Given the description of an element on the screen output the (x, y) to click on. 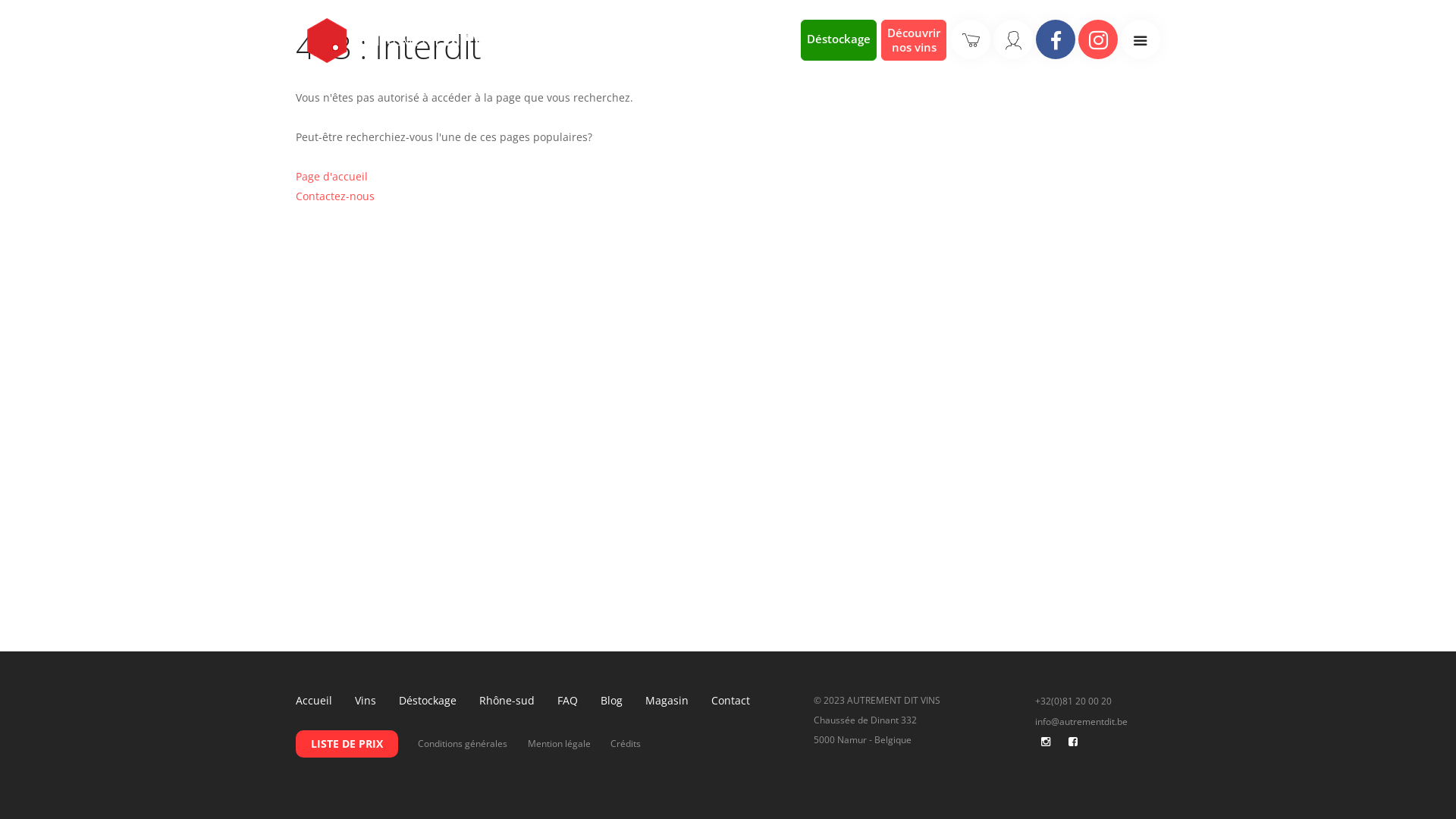
FAQ Element type: text (567, 700)
fb:like Facebook Social Plugin Element type: hover (1094, 762)
LISTE DE PRIX Element type: text (346, 743)
Authentifiez-vous Element type: hover (1012, 39)
Contactez-nous Element type: text (334, 195)
info@autrementdit.be Element type: text (1081, 721)
Menu Element type: hover (1140, 39)
Notre actu sur Facebook Element type: hover (1055, 39)
Vins Element type: text (365, 700)
AUTREMENT DIT VINS Element type: hover (407, 40)
Accueil Element type: text (313, 700)
Magasin Element type: text (666, 700)
Blog Element type: text (611, 700)
Contact Element type: text (730, 700)
+32(0)81 20 00 20 Element type: text (1073, 700)
  Element type: text (1036, 741)
  Element type: text (1071, 741)
Notre actu sur Instagram Element type: hover (1097, 39)
Page d'accueil Element type: text (331, 176)
    Element type: text (1057, 741)
